Given the description of an element on the screen output the (x, y) to click on. 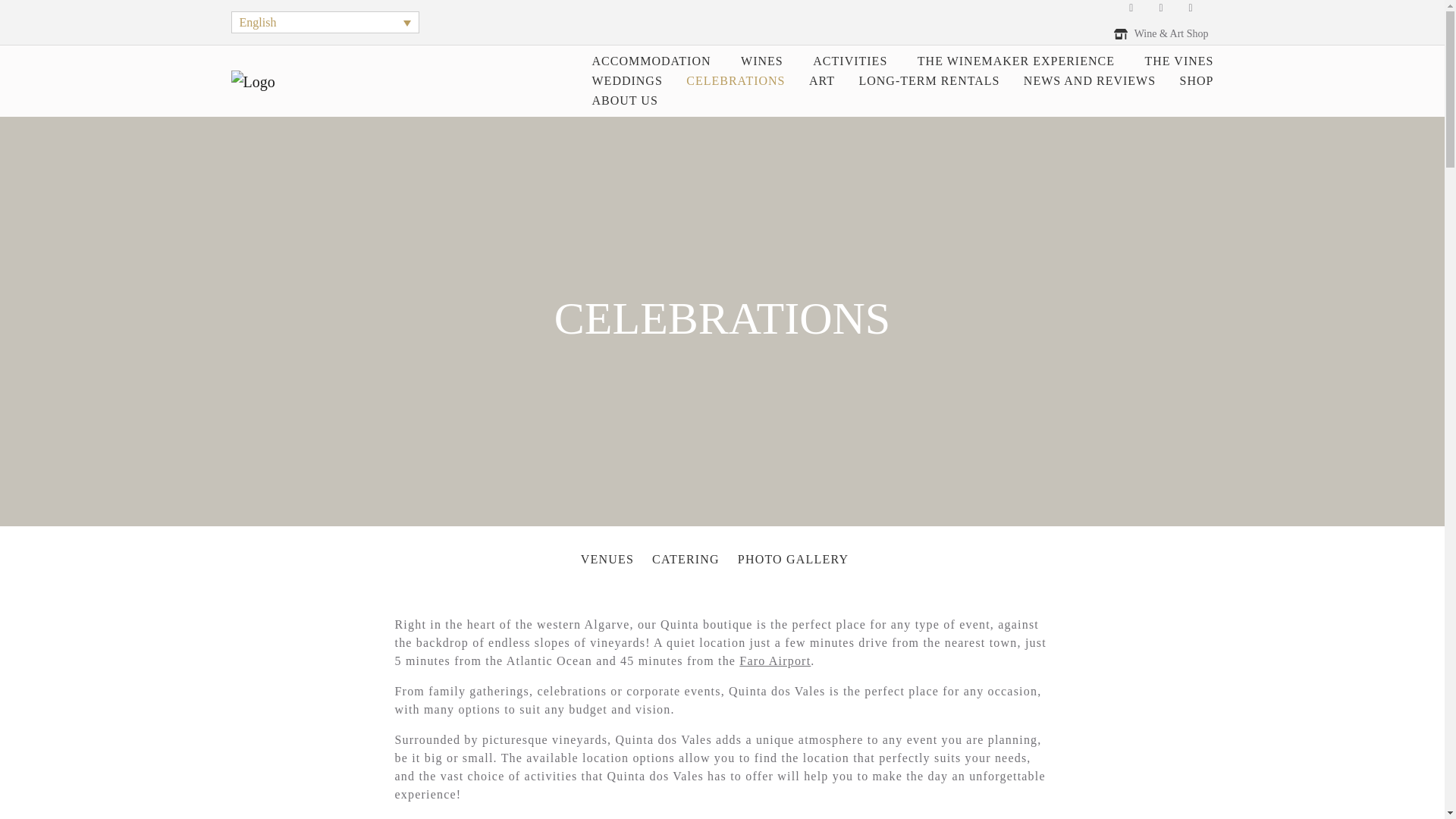
CATERING (685, 558)
VENUES (606, 558)
NEWS AND REVIEWS (1078, 80)
English (324, 22)
ACCOMMODATION (639, 61)
WEDDINGS (615, 80)
Faro Airport (774, 660)
WINES (750, 61)
ABOUT US (613, 100)
CELEBRATIONS (723, 80)
